Given the description of an element on the screen output the (x, y) to click on. 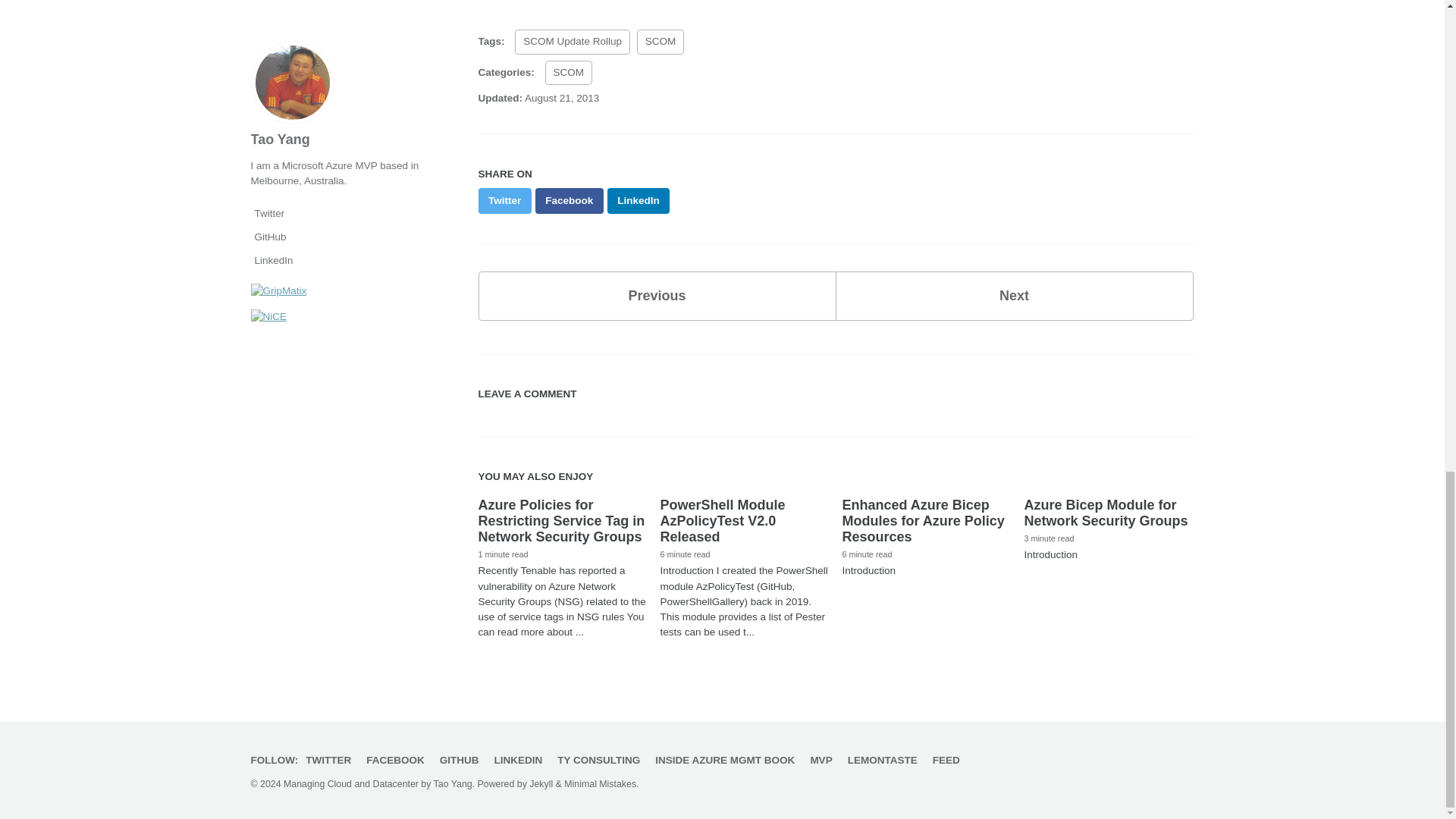
SCOM (568, 72)
Share on Facebook (569, 200)
FACEBOOK (399, 759)
PowerShell Module AzPolicyTest V2.0 Released (721, 520)
Next (1014, 296)
TWITTER (331, 759)
GITHUB (462, 759)
LinkedIn (638, 200)
Twitter (504, 200)
Facebook (569, 200)
